Given the description of an element on the screen output the (x, y) to click on. 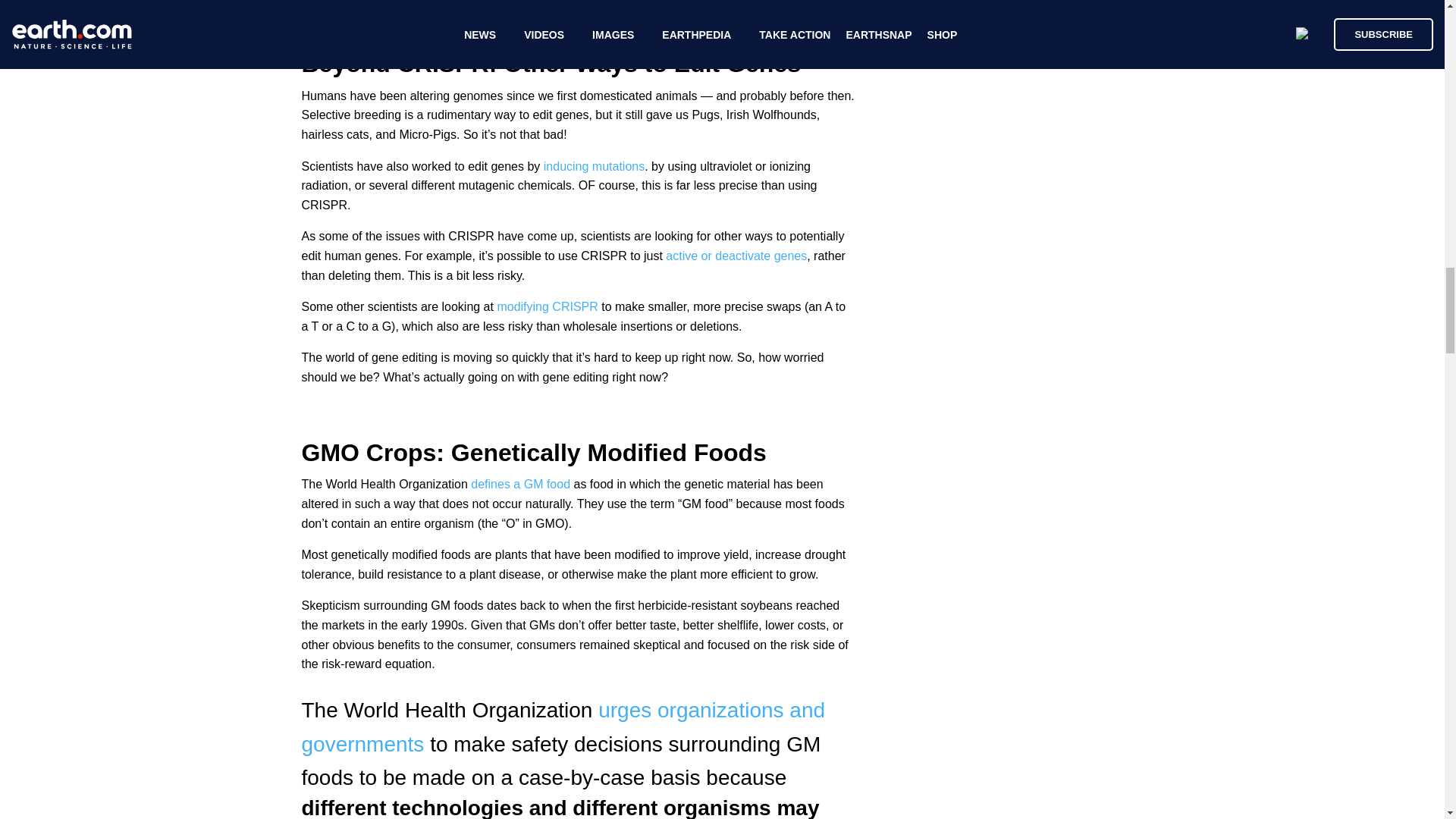
defines a GM food (518, 483)
modifying CRISPR (546, 306)
active or deactivate genes (735, 255)
urges organizations and governments (563, 726)
inducing mutations (594, 165)
